Given the description of an element on the screen output the (x, y) to click on. 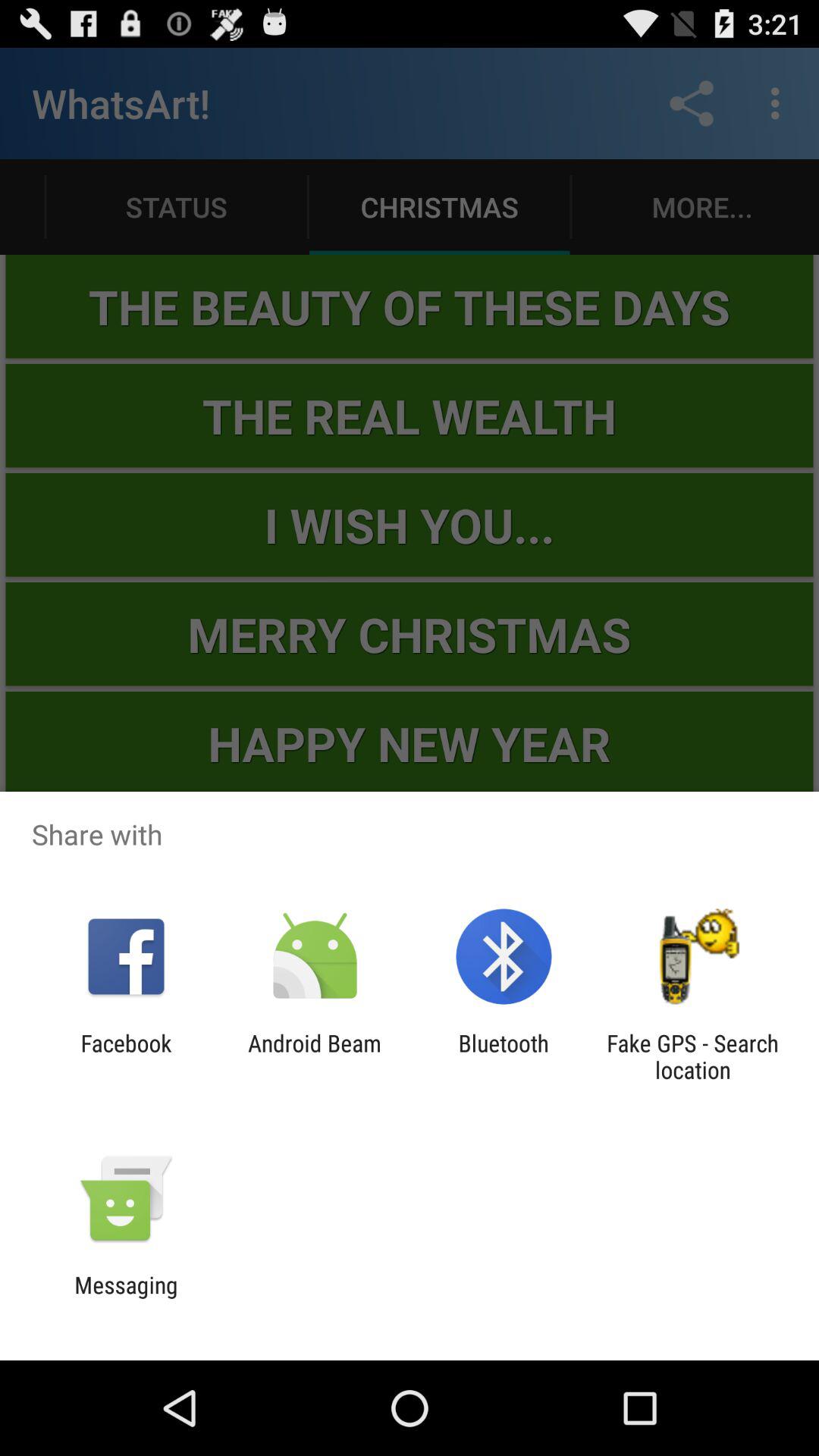
turn on the item to the right of the android beam icon (503, 1056)
